Given the description of an element on the screen output the (x, y) to click on. 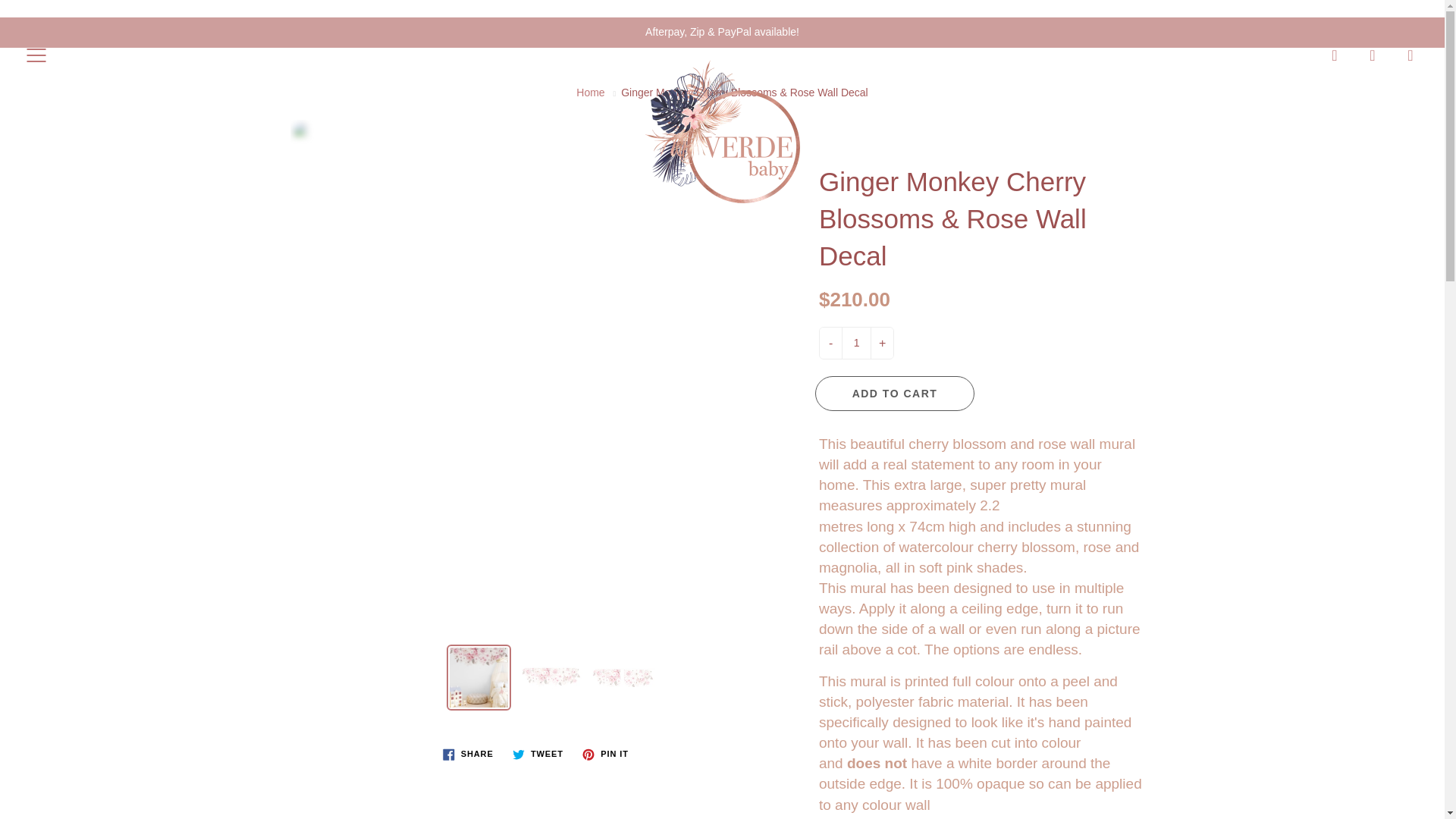
Home (590, 92)
Press space bar to toggle menu (36, 55)
Search (1334, 55)
Pin on Pinterest (604, 754)
Tweet on Twitter (537, 754)
Share on Facebook (467, 754)
My account (1372, 55)
1 (855, 342)
You have 0 items in your cart (1410, 55)
